Given the description of an element on the screen output the (x, y) to click on. 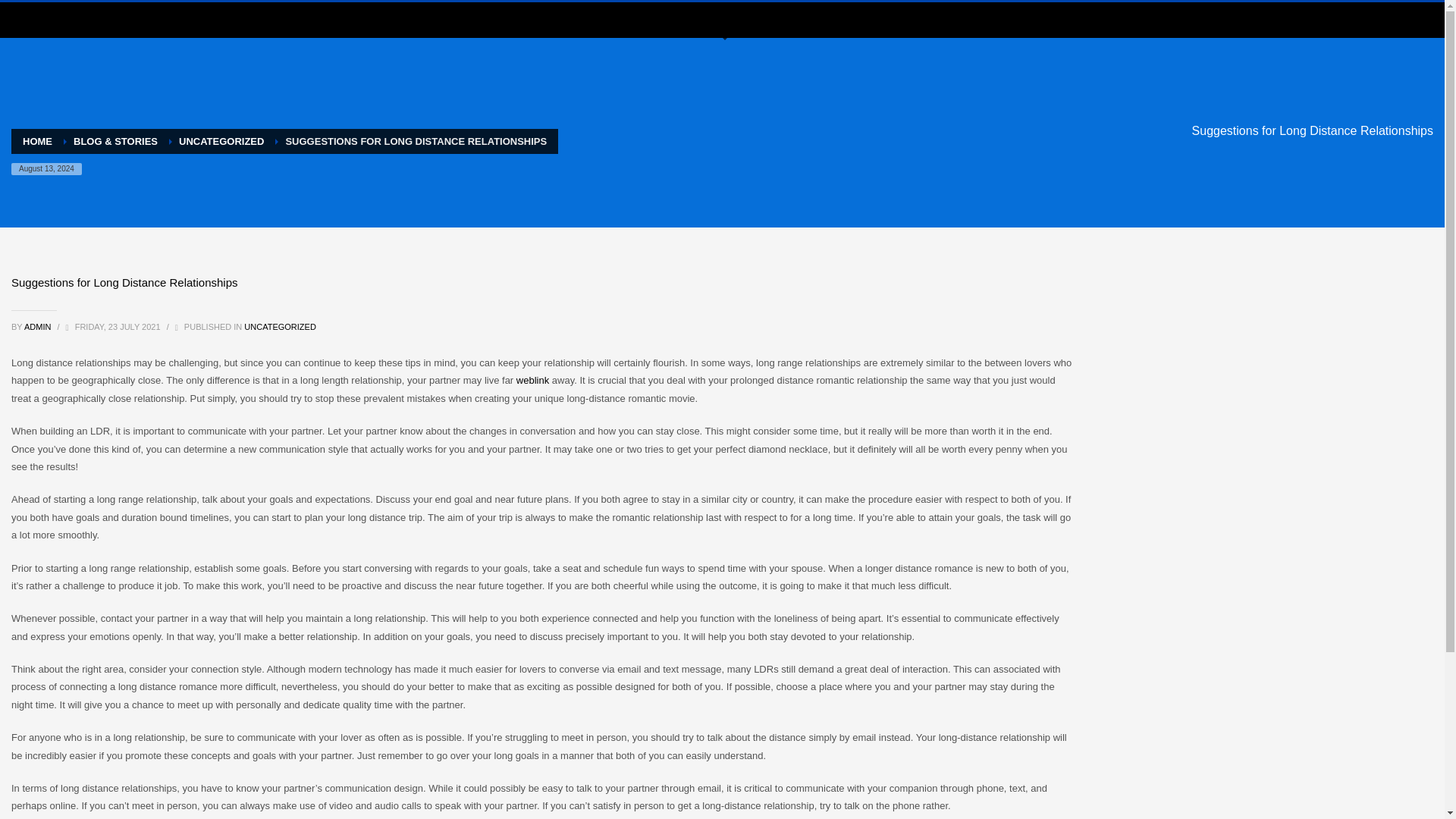
HOME (37, 141)
UNCATEGORIZED (221, 141)
ADMIN (38, 326)
weblink (532, 379)
UNCATEGORIZED (279, 326)
